Given the description of an element on the screen output the (x, y) to click on. 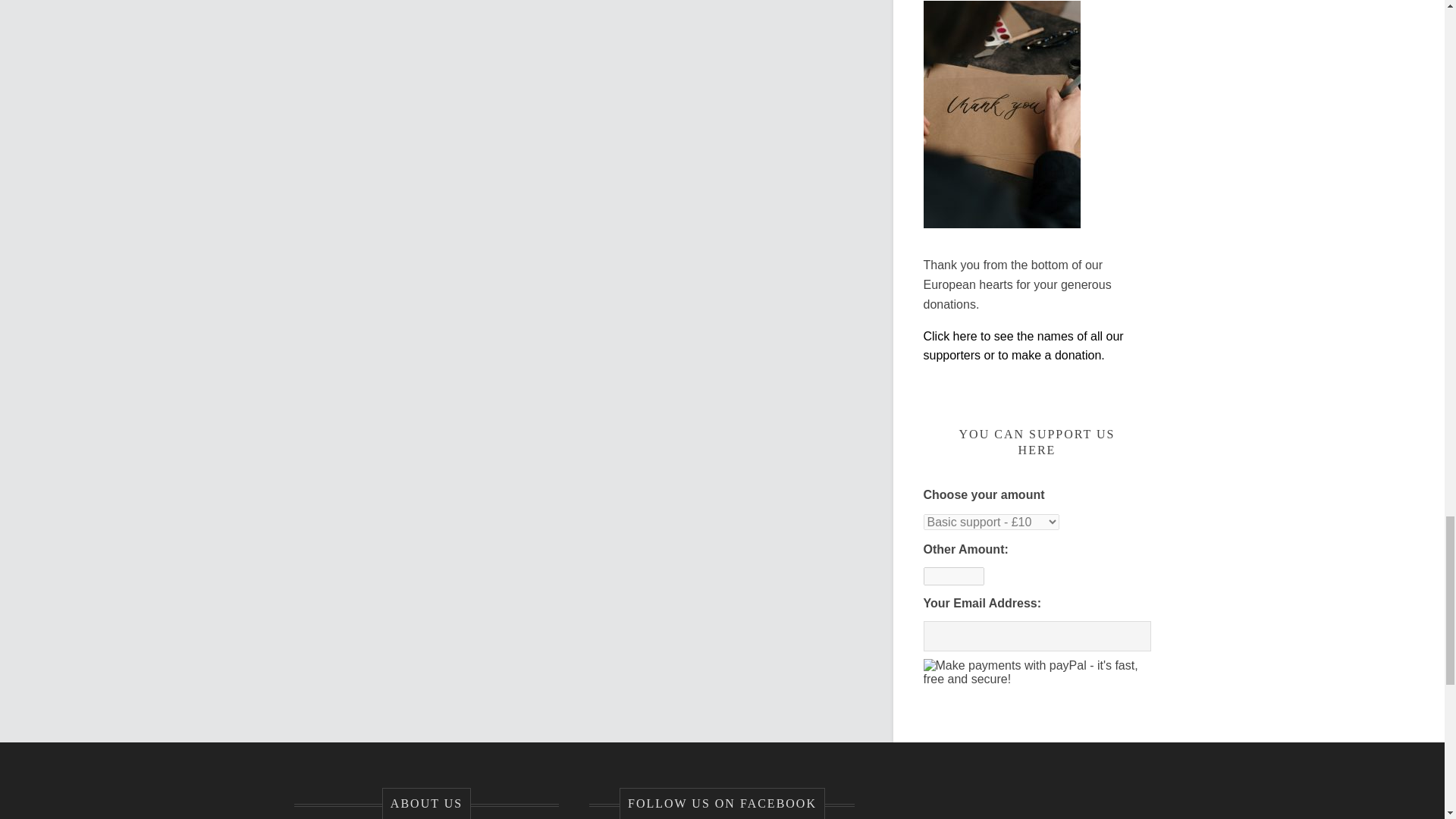
Other Amount (953, 576)
